Given the description of an element on the screen output the (x, y) to click on. 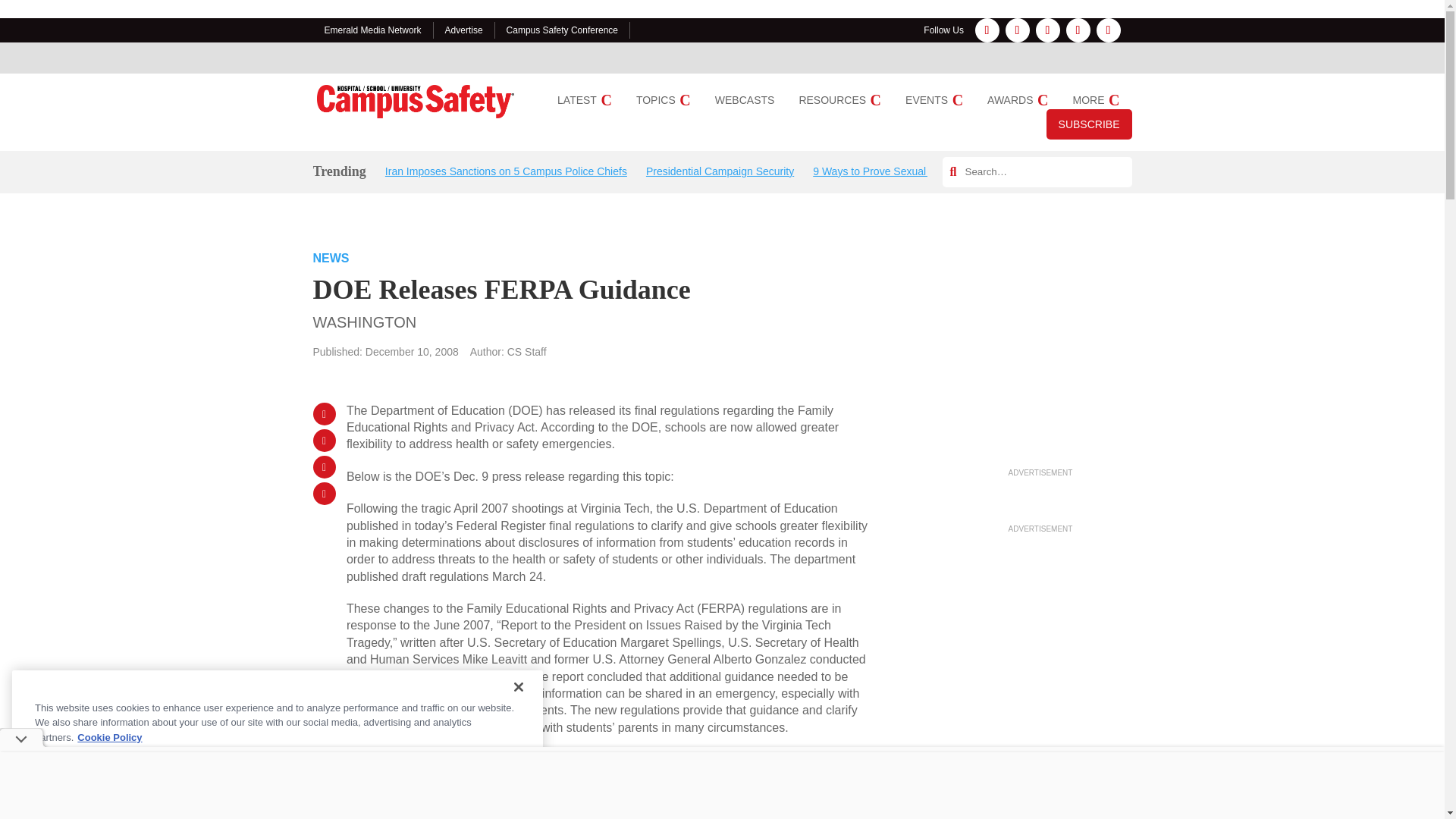
LATEST (584, 100)
Follow on Youtube (1108, 30)
TOPICS (663, 100)
Embedded CTA (610, 799)
Follow on Facebook (986, 30)
Follow on LinkedIn (1047, 30)
Follow on X (1077, 30)
Campus Safety Conference (561, 30)
Advertise (464, 30)
Emerald Media Network (373, 30)
3rd party ad content (1040, 369)
Follow on Instagram (1017, 30)
